Given the description of an element on the screen output the (x, y) to click on. 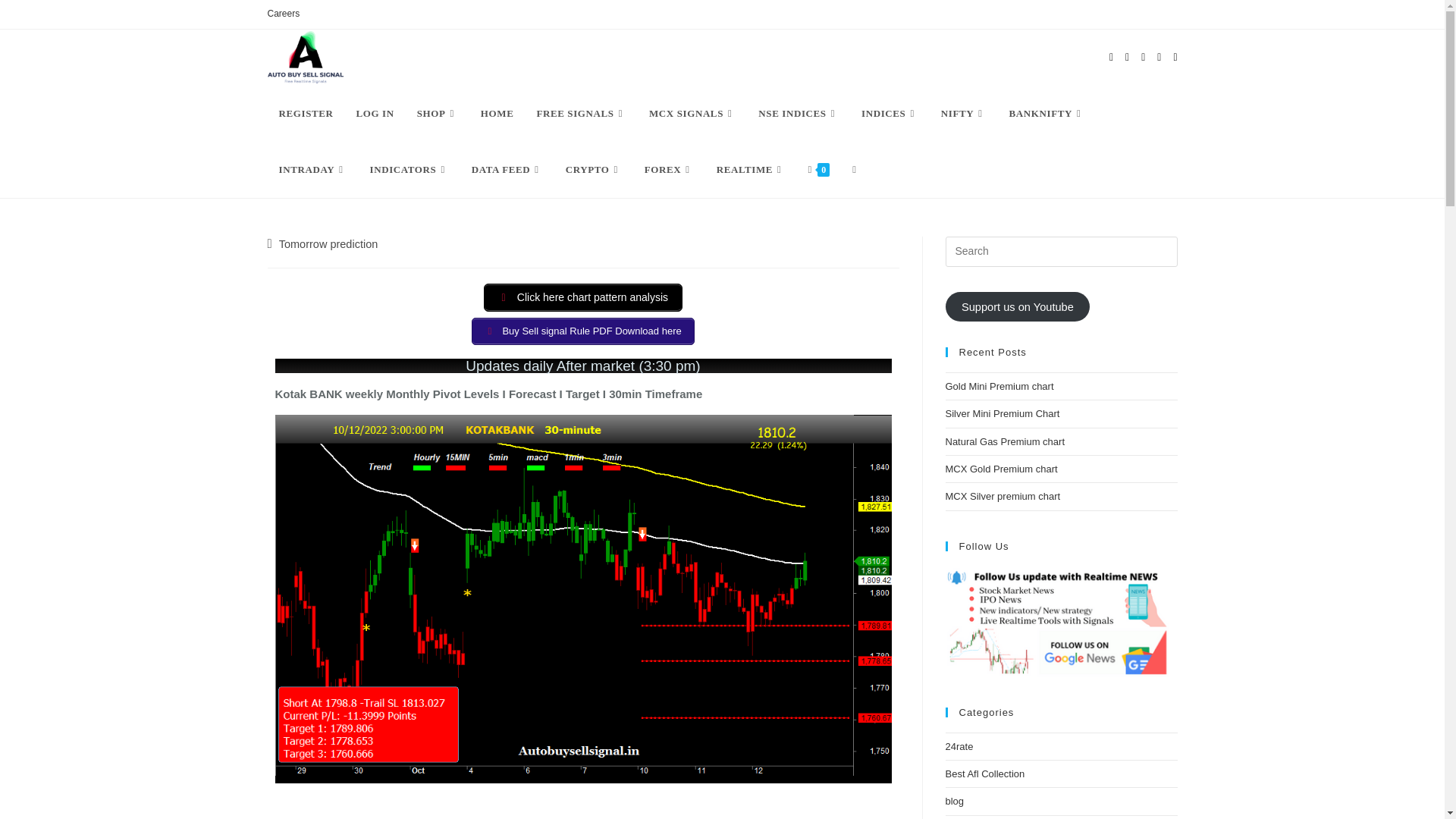
SHOP (437, 113)
Follow us (1060, 621)
FREE SIGNALS (580, 113)
LOG IN (373, 113)
REGISTER (304, 113)
HOME (496, 113)
Careers (282, 13)
Advertisement (583, 804)
